Given the description of an element on the screen output the (x, y) to click on. 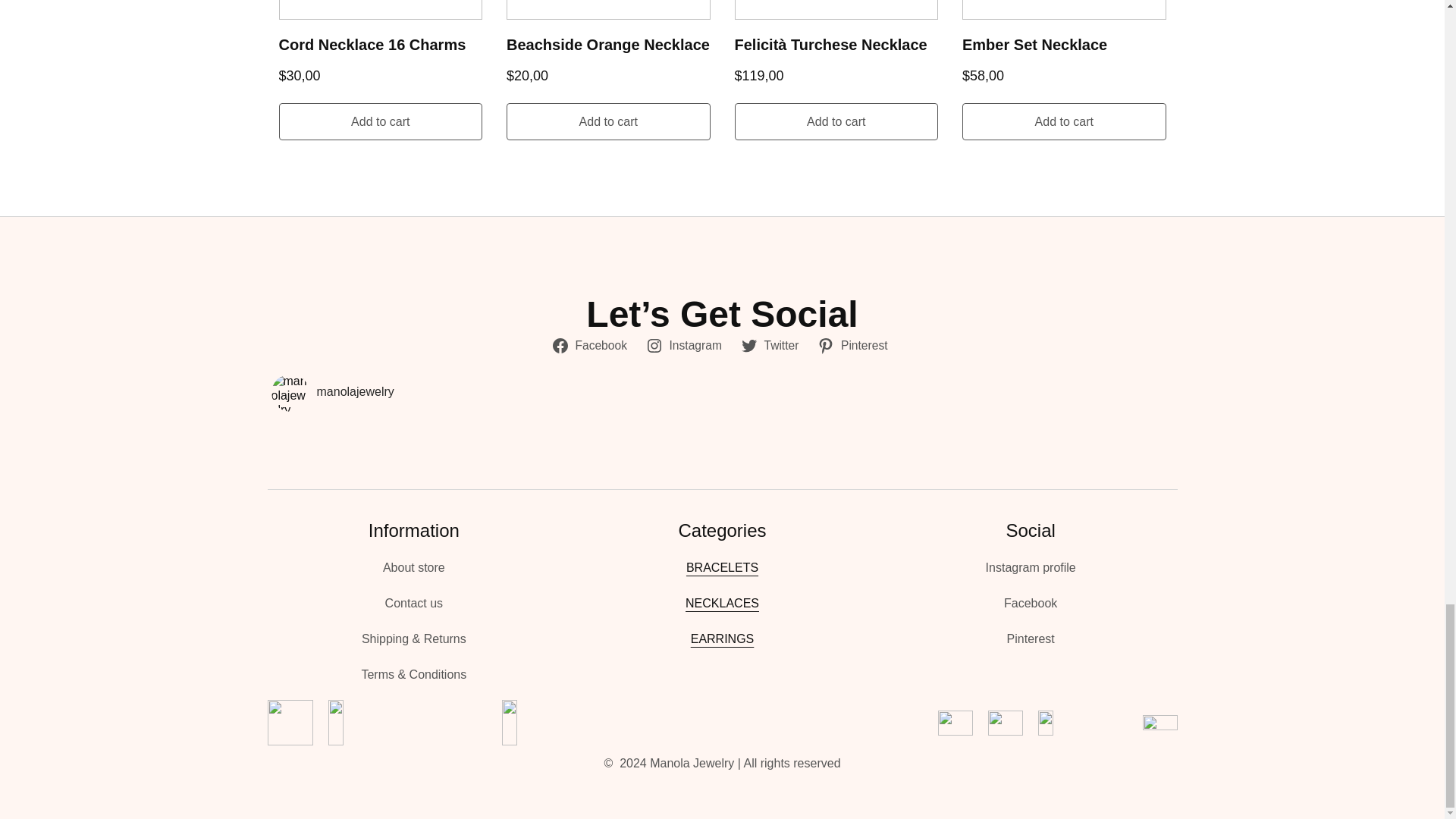
Add to cart (835, 121)
Add to cart (608, 121)
Add to cart (381, 121)
